Given the description of an element on the screen output the (x, y) to click on. 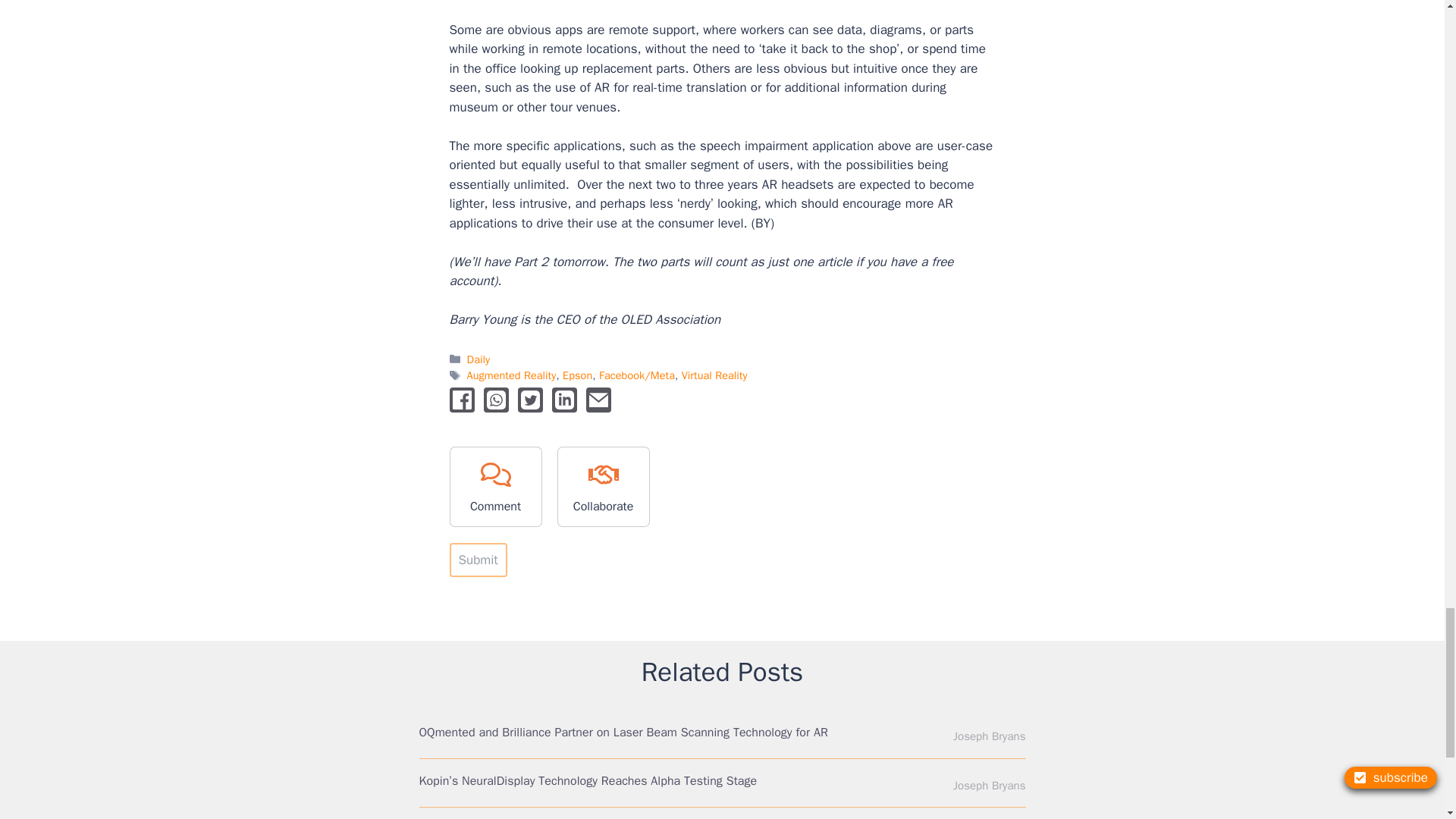
Epson (577, 375)
Virtual Reality (714, 375)
Daily (478, 359)
Augmented Reality (511, 375)
Submit (477, 560)
